Given the description of an element on the screen output the (x, y) to click on. 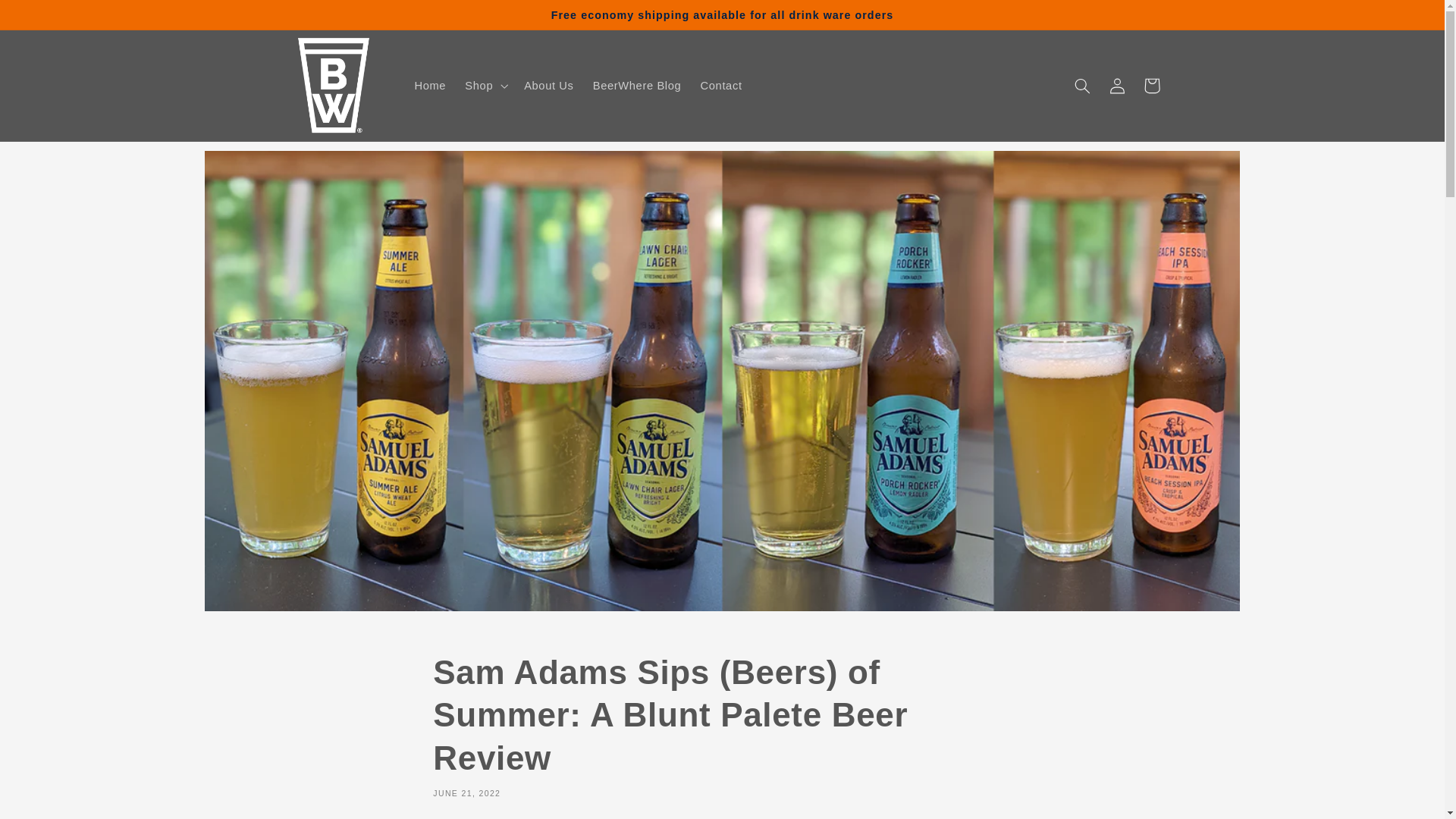
Skip to content (49, 19)
About Us (549, 85)
Log in (1116, 85)
BeerWhere Blog (636, 85)
Cart (1151, 85)
Home (429, 85)
Contact (720, 85)
